Given the description of an element on the screen output the (x, y) to click on. 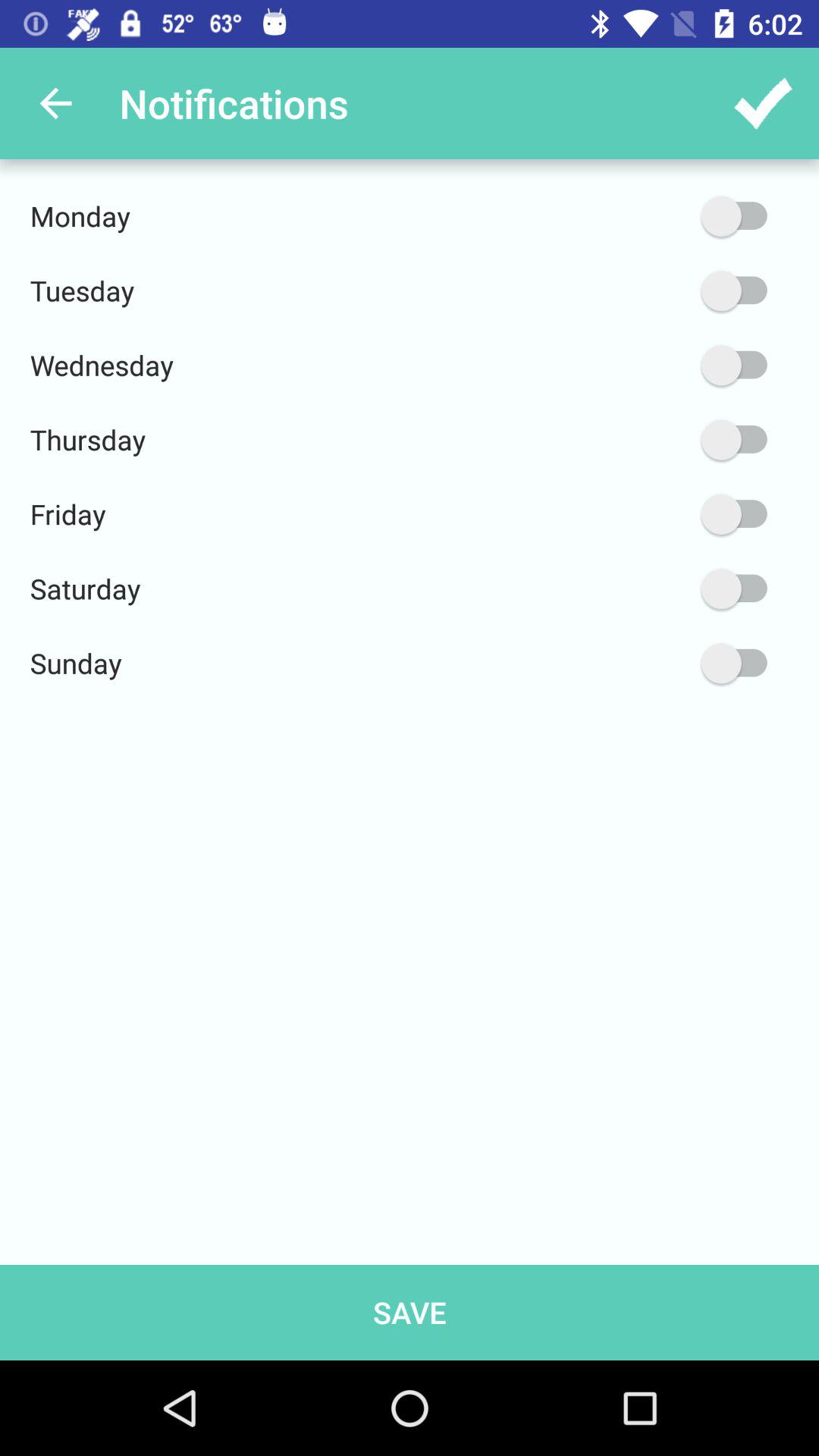
turn off app next to notifications item (55, 103)
